Given the description of an element on the screen output the (x, y) to click on. 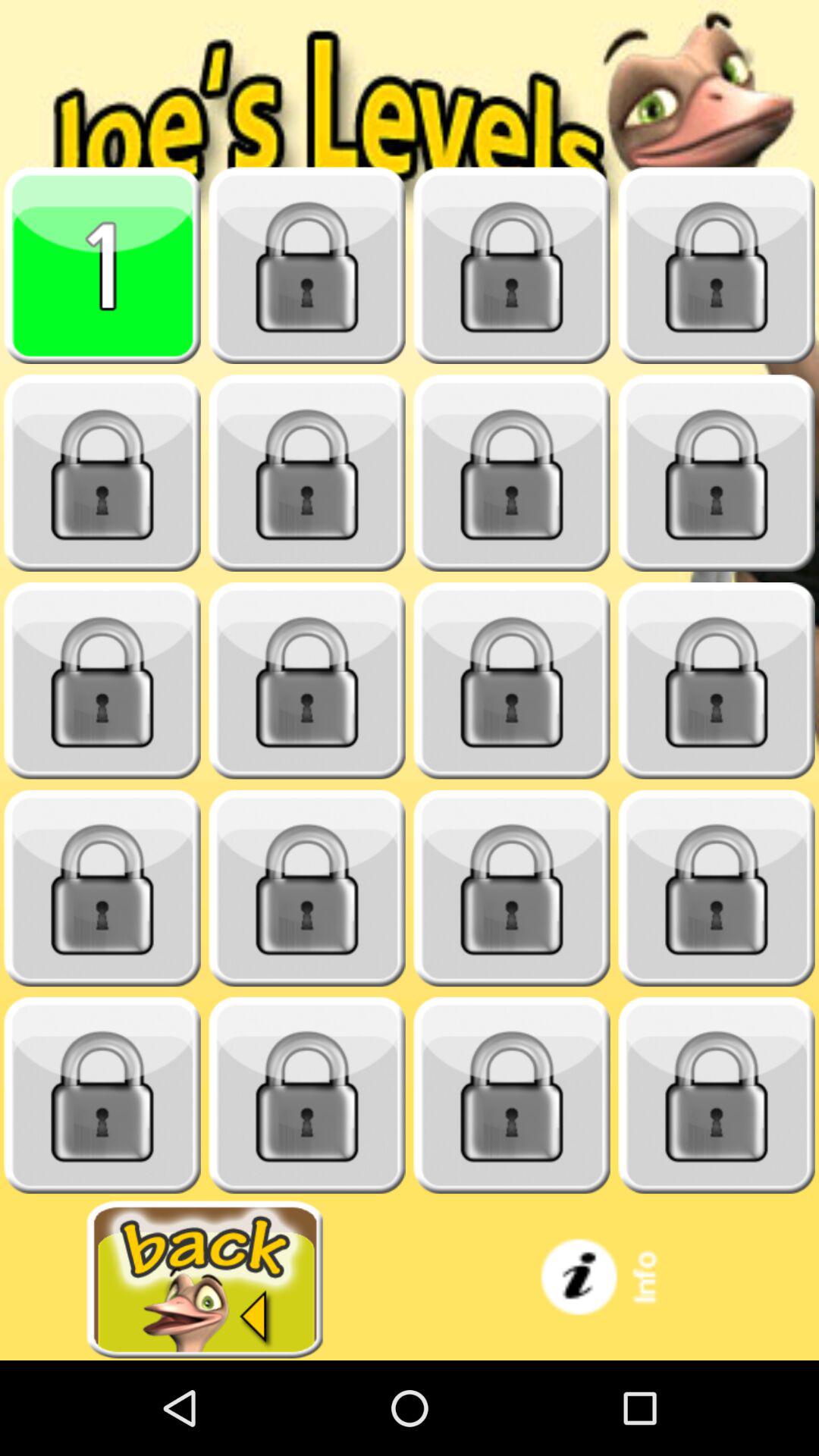
get more info (614, 1279)
